Given the description of an element on the screen output the (x, y) to click on. 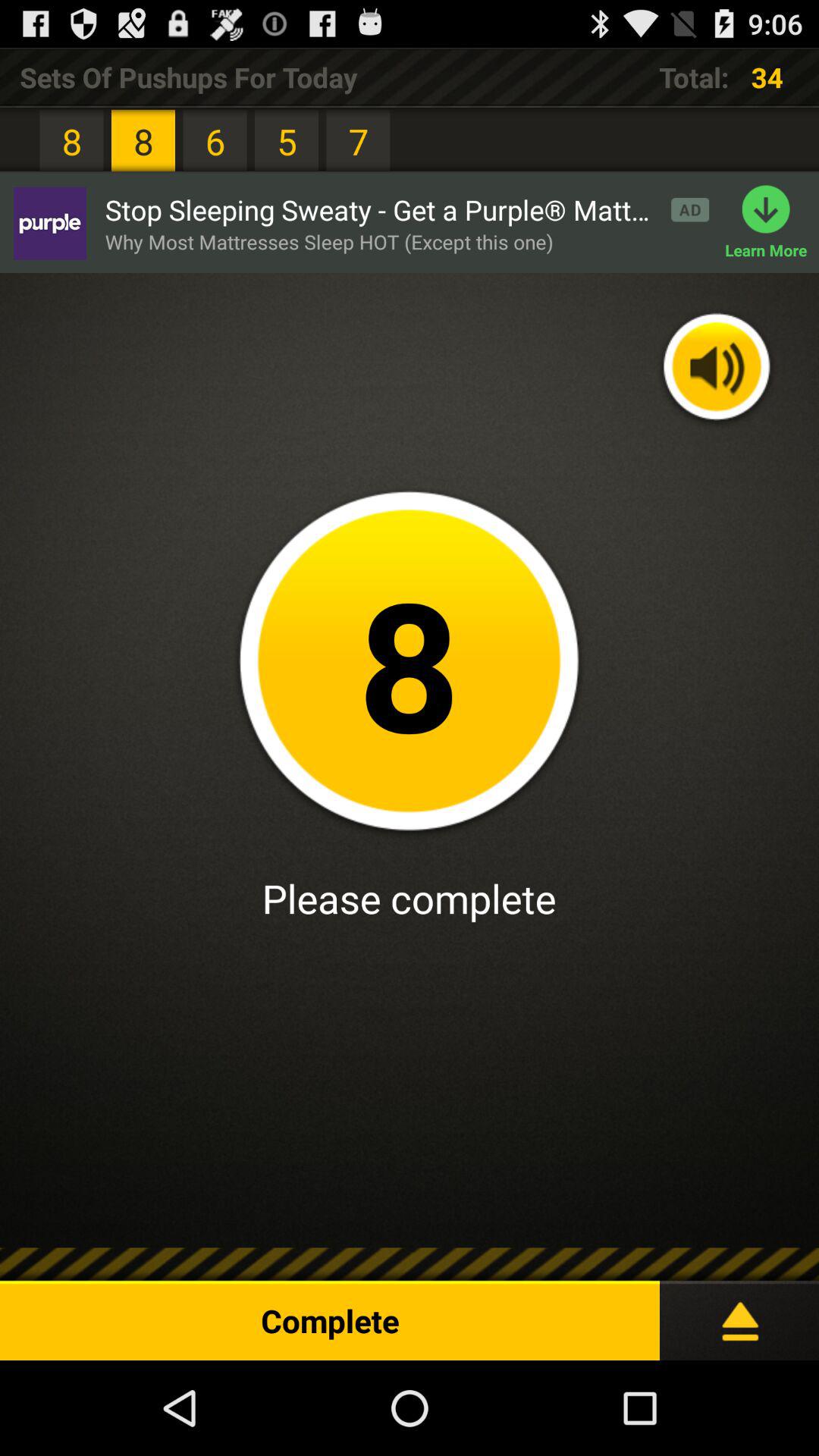
see more information (739, 1314)
